Given the description of an element on the screen output the (x, y) to click on. 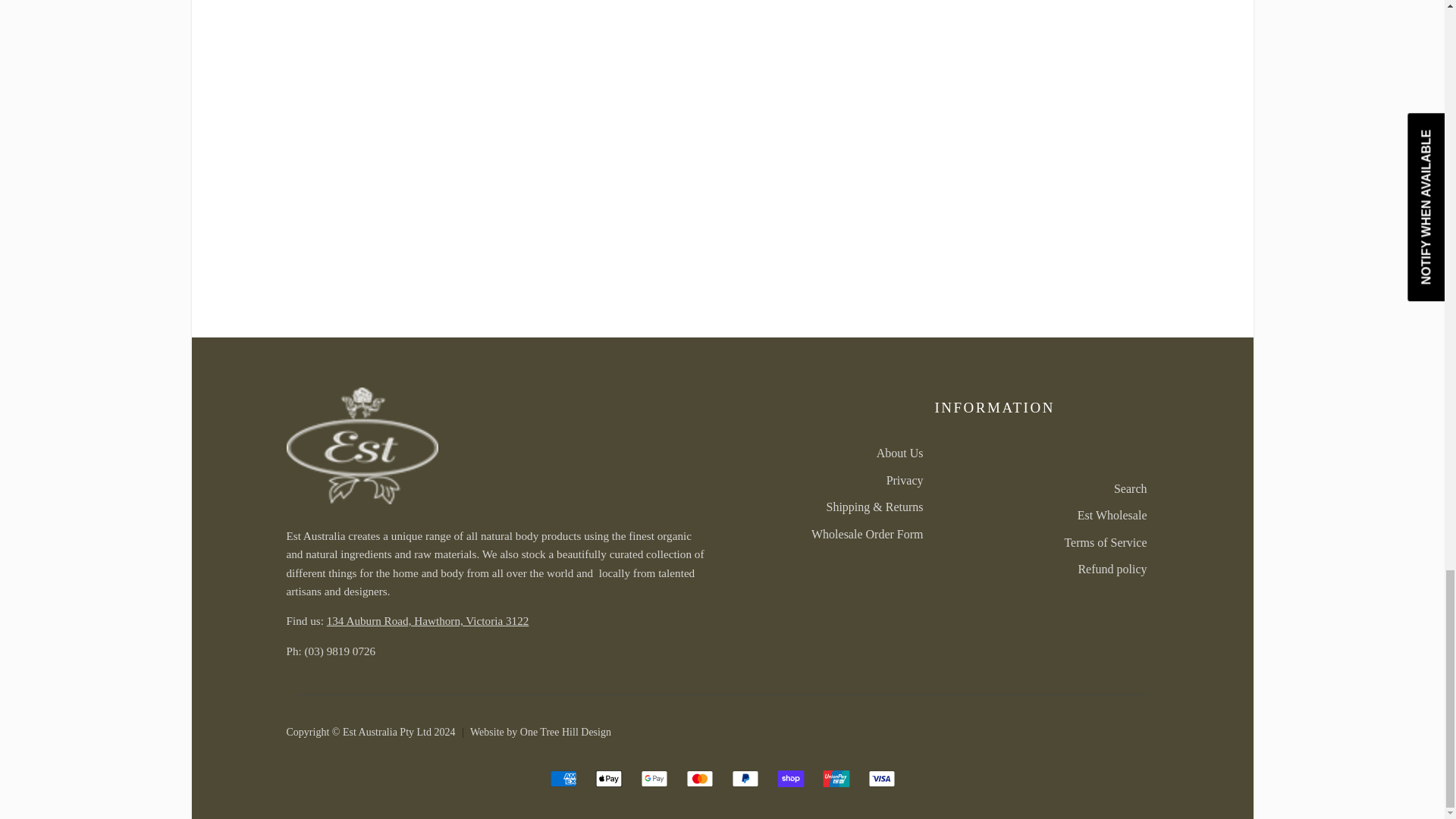
Shop Pay (789, 778)
Google Pay (653, 778)
Apple Pay (607, 778)
Visa (881, 778)
PayPal (744, 778)
American Express (562, 778)
Mastercard (699, 778)
Union Pay (835, 778)
